Given the description of an element on the screen output the (x, y) to click on. 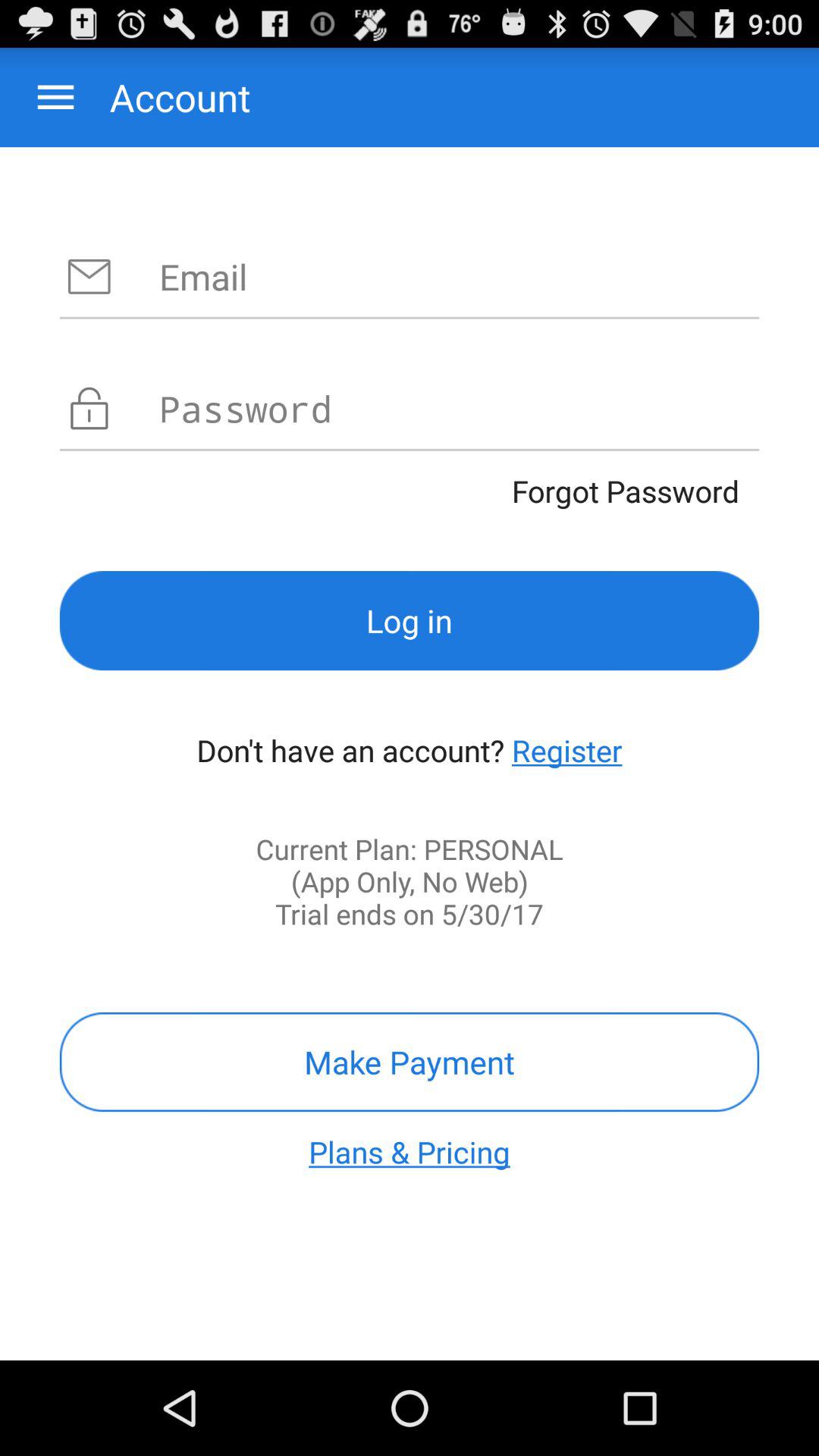
choose icon on the right (566, 750)
